Given the description of an element on the screen output the (x, y) to click on. 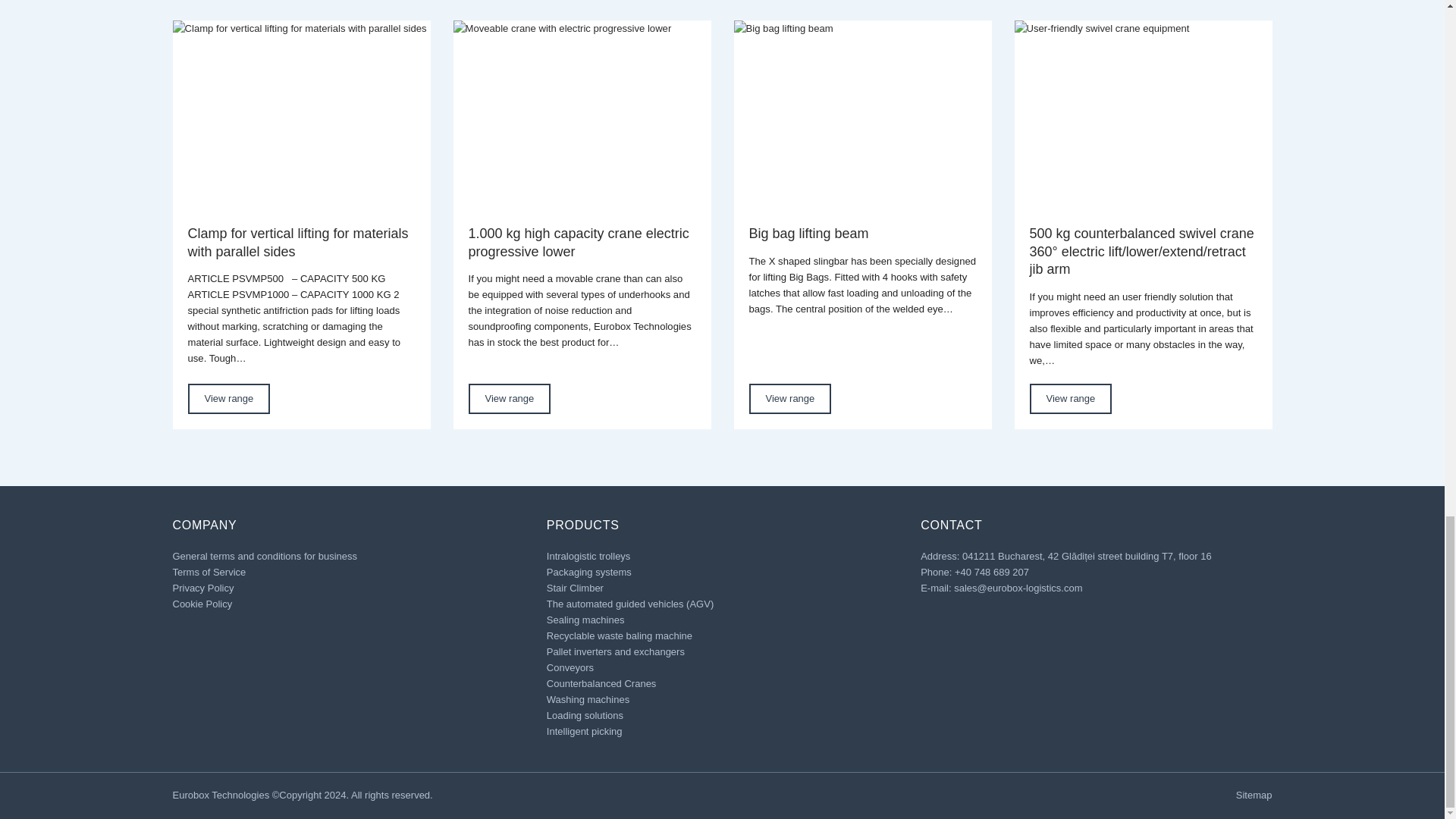
User-friendly swivel crane equipment (1143, 116)
Moveable crane with electric progressive lower (581, 116)
Clamp for vertical lifting for materials with parallel sides (301, 116)
Big bag lifting beam (862, 116)
